Given the description of an element on the screen output the (x, y) to click on. 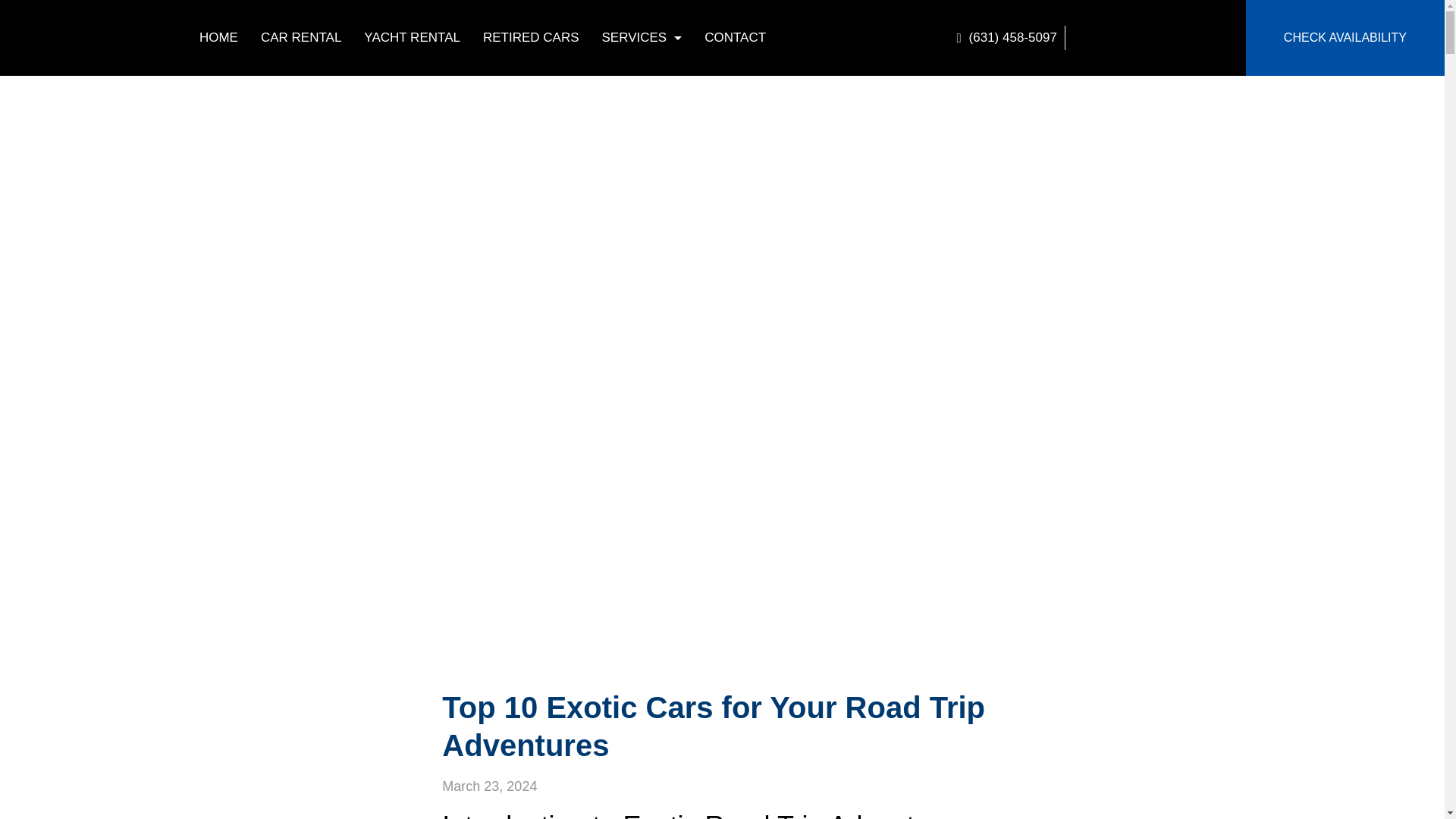
HOME (217, 37)
Car Rental (300, 37)
CAR RENTAL (300, 37)
Retired Cars (531, 37)
RETIRED CARS (531, 37)
YACHT RENTAL (411, 37)
Contact (735, 37)
Services (642, 37)
CONTACT (735, 37)
SERVICES (642, 37)
